Given the description of an element on the screen output the (x, y) to click on. 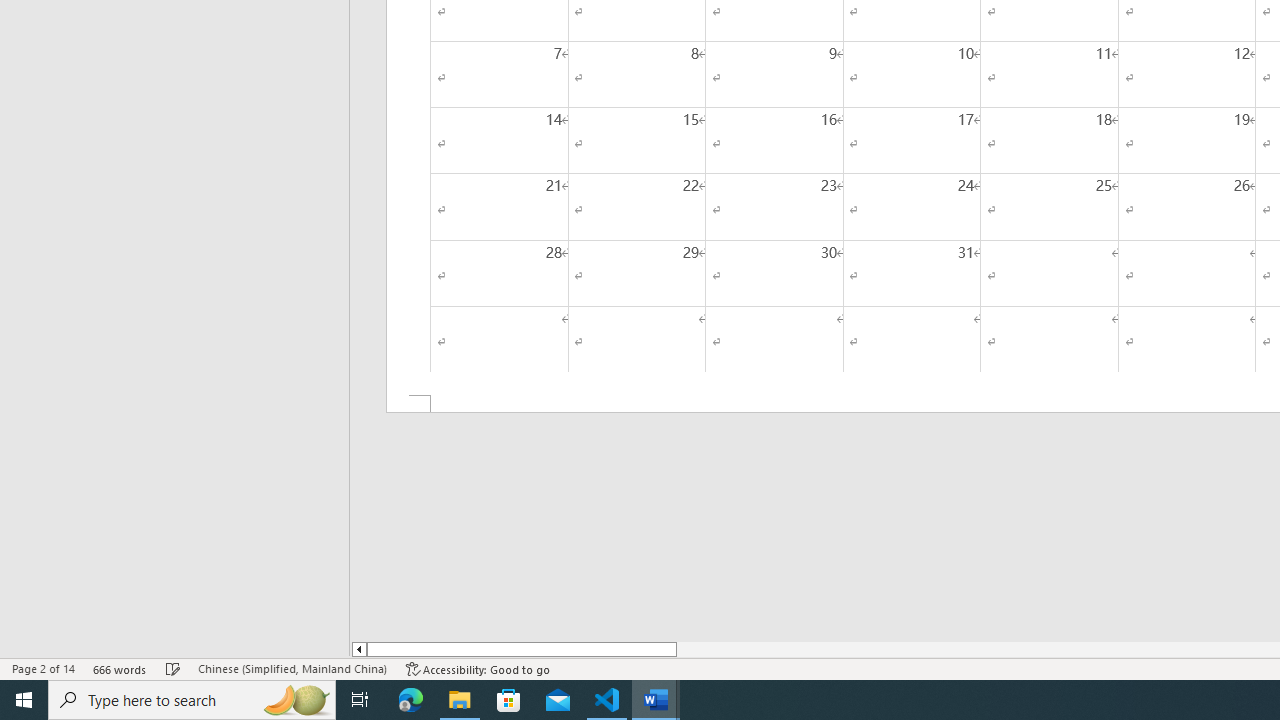
Column left (358, 649)
Page Number Page 2 of 14 (43, 668)
